Given the description of an element on the screen output the (x, y) to click on. 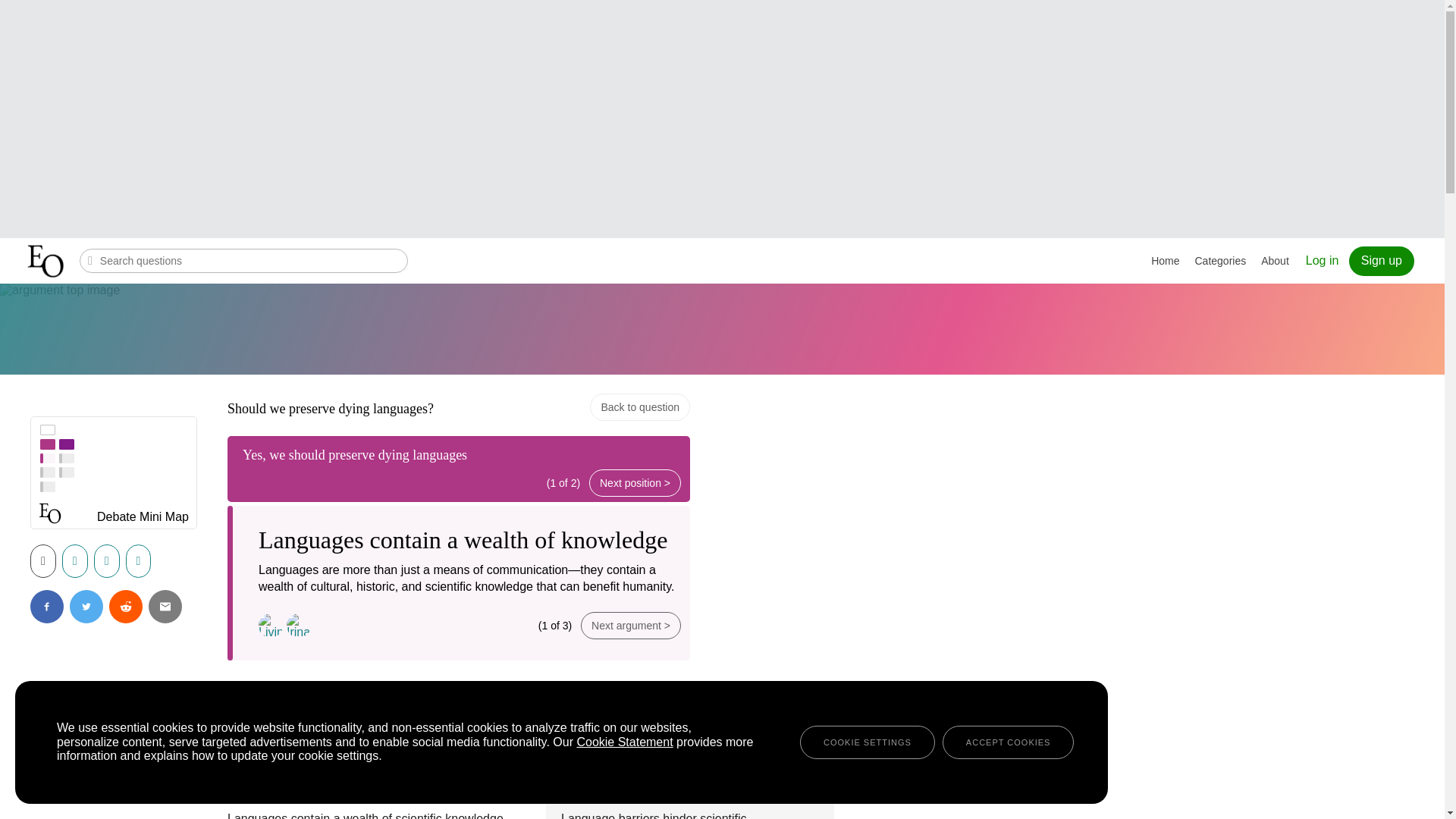
Advertisement (734, 117)
Yes, we should preserve dying languages (355, 454)
Sign up (1381, 260)
Log in (1322, 259)
Categories (1220, 260)
Should we preserve dying languages? (330, 408)
About (1275, 260)
Sign up (1381, 260)
Home (1164, 260)
Log In (1322, 259)
Go to homepage (47, 261)
Debate Mini Map (143, 518)
Back to question (639, 406)
